Given the description of an element on the screen output the (x, y) to click on. 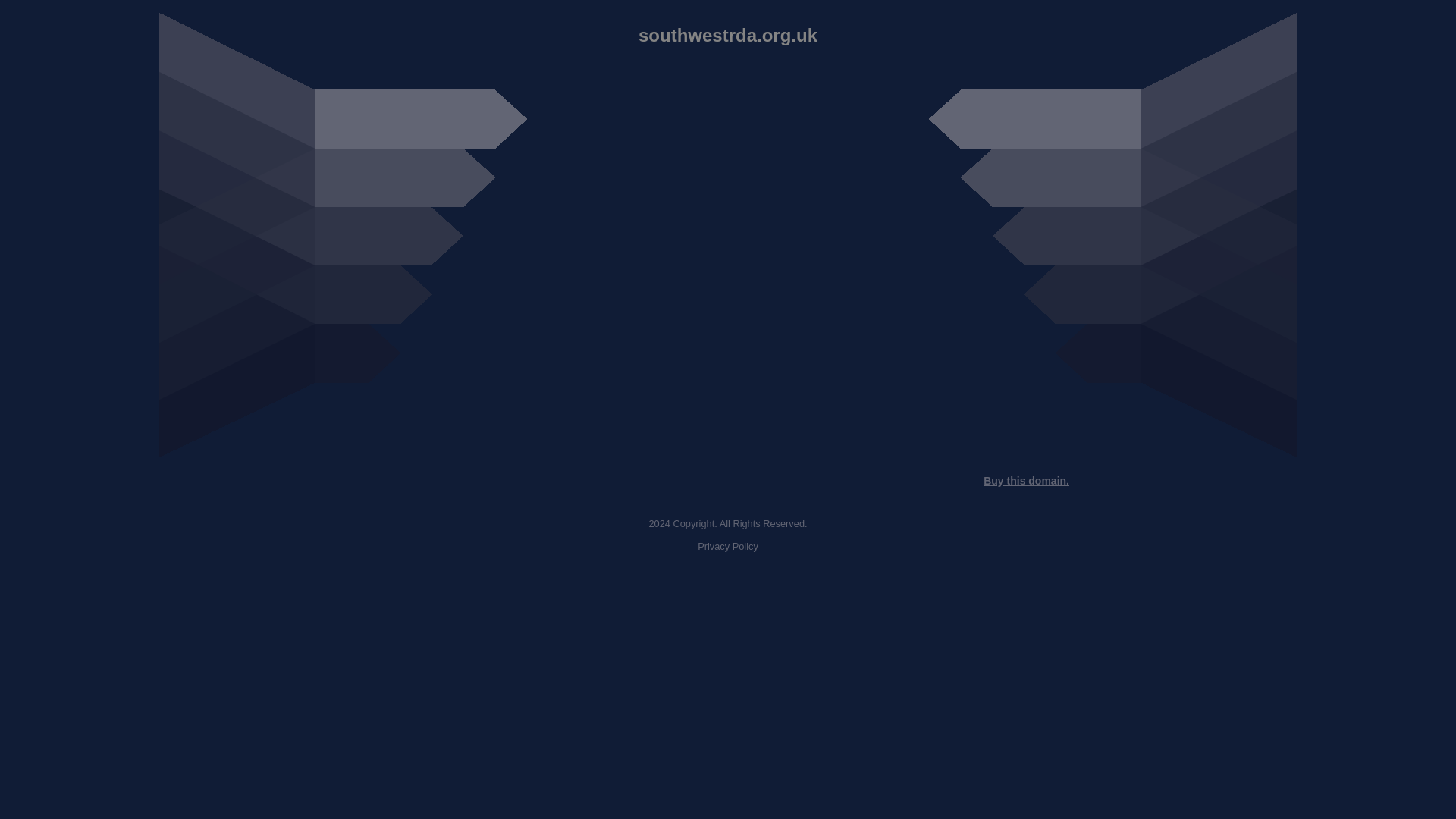
Privacy Policy (727, 546)
Buy this domain. (1026, 480)
